Given the description of an element on the screen output the (x, y) to click on. 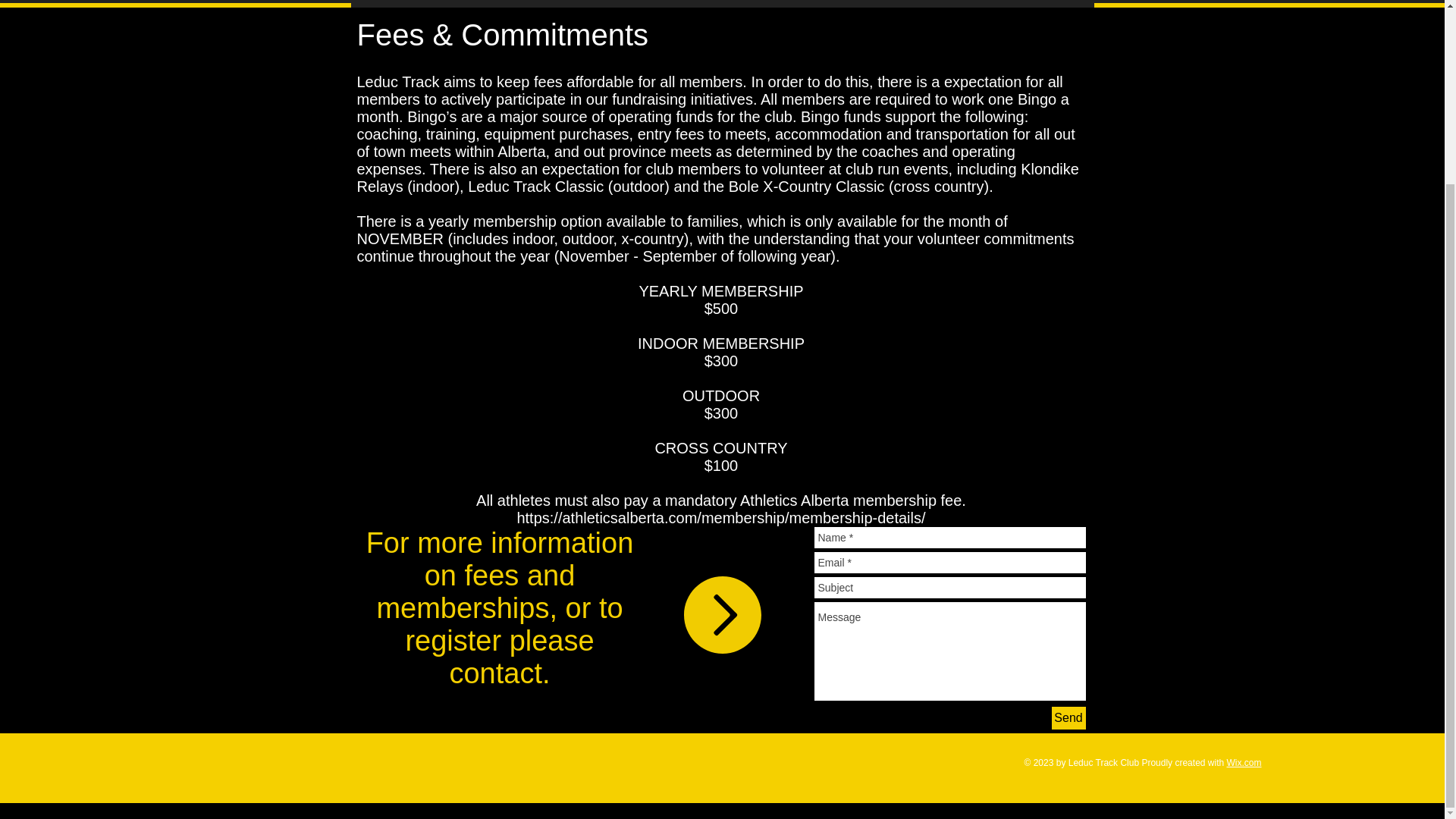
ALUMNI (1048, 4)
Send (1067, 717)
ABOUT US (481, 4)
CONTACT US (589, 4)
HOME (390, 4)
Wix.com (1242, 762)
